Given the description of an element on the screen output the (x, y) to click on. 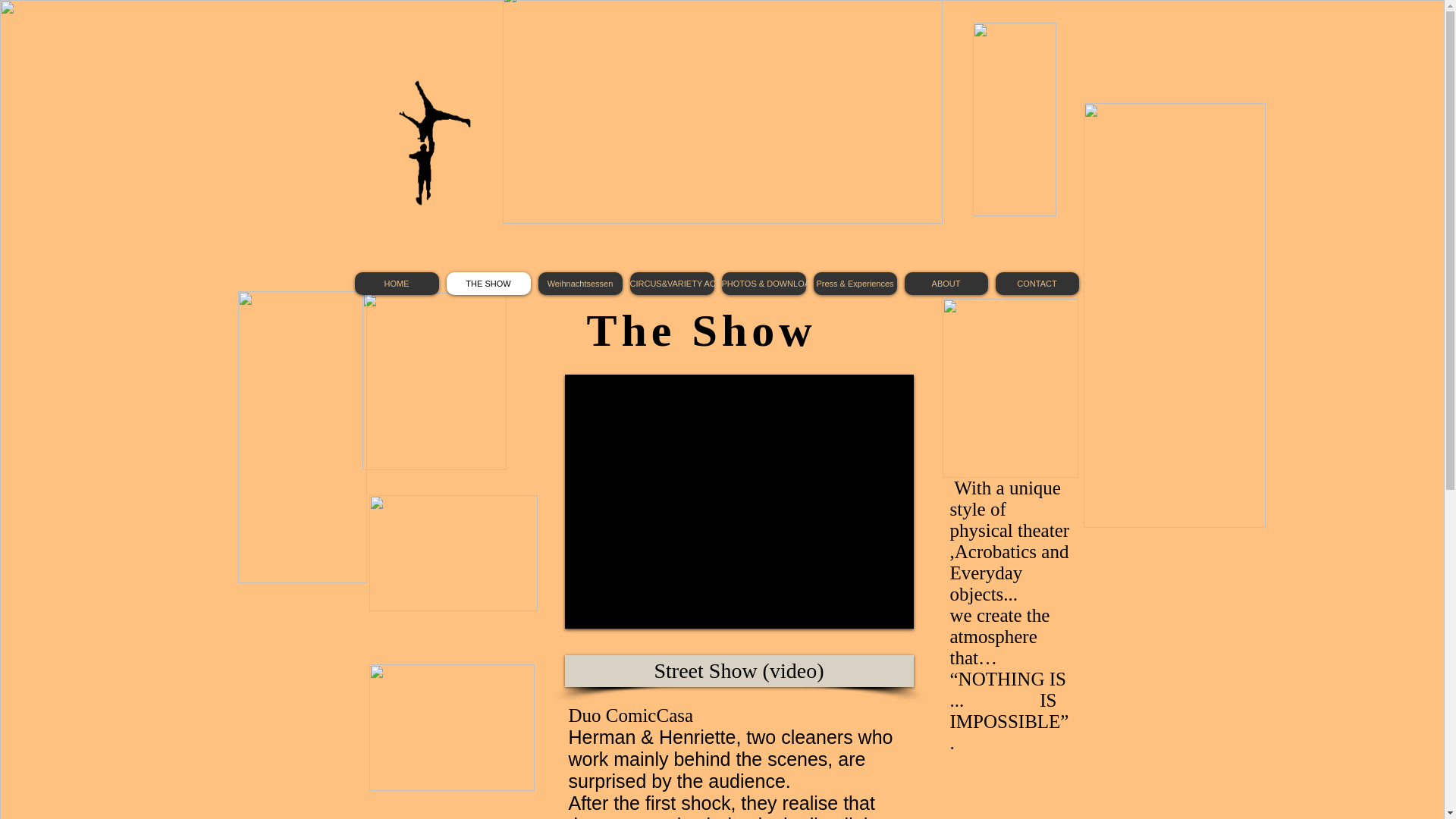
THE SHOW (487, 282)
HOME (397, 282)
External Vimeo (738, 501)
ABOUT (945, 282)
Weihnachtsessen (580, 282)
CONTACT (1036, 282)
